Given the description of an element on the screen output the (x, y) to click on. 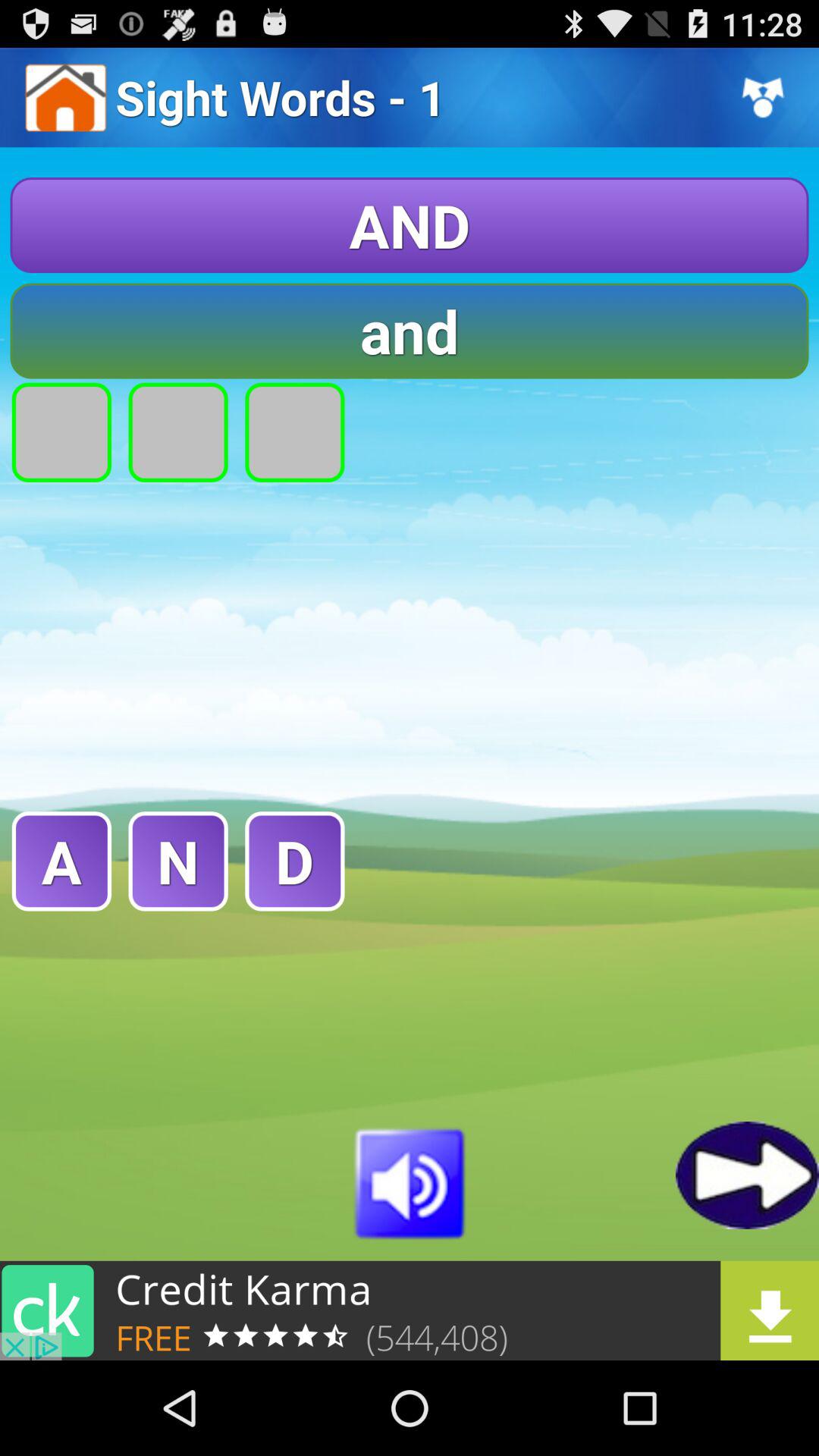
visit credit karma website (409, 1310)
